Given the description of an element on the screen output the (x, y) to click on. 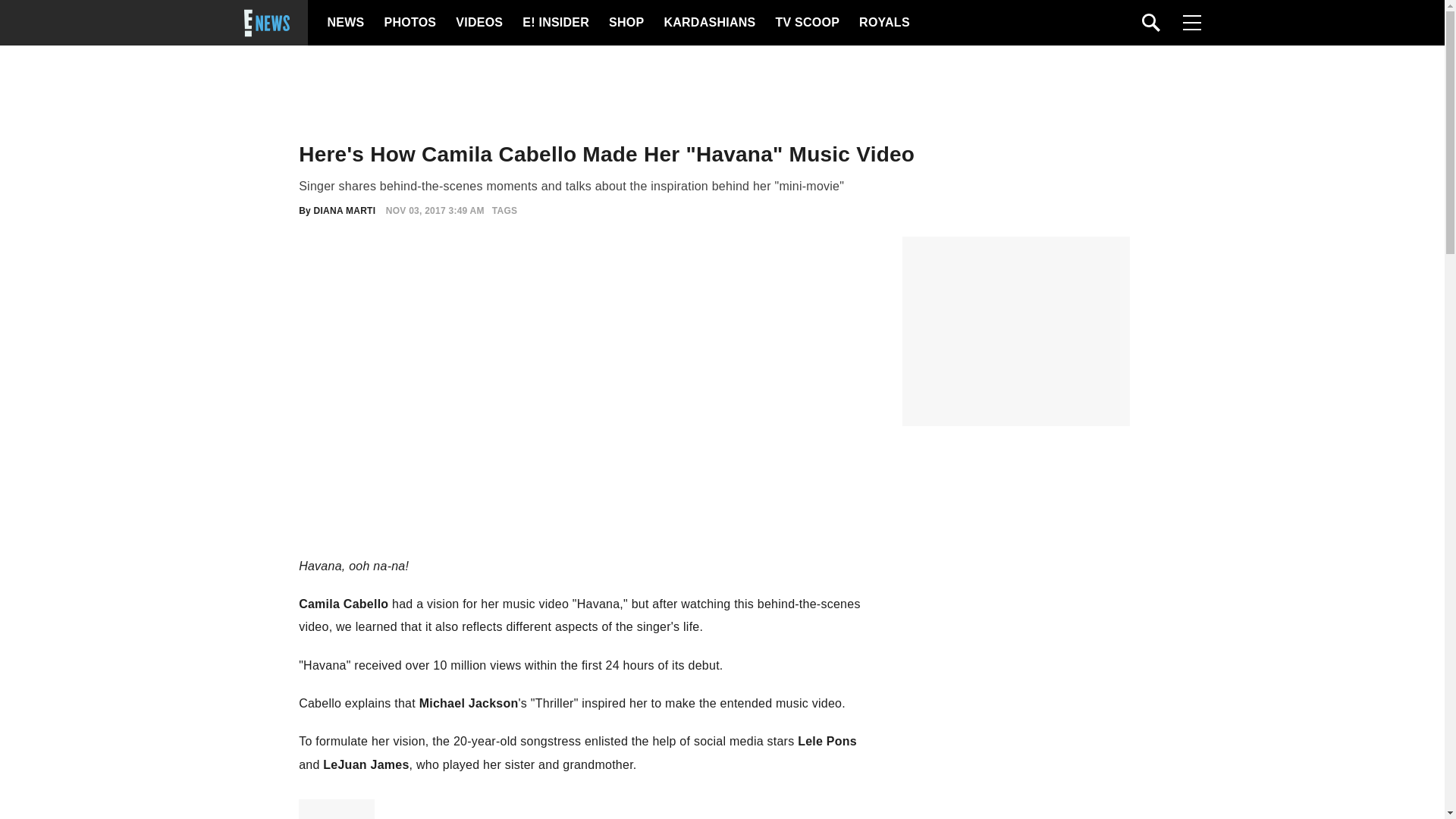
SHOP (625, 22)
PHOTOS (408, 22)
KARDASHIANS (708, 22)
ROYALS (883, 22)
E! INSIDER (555, 22)
DIANA MARTI (344, 210)
TV SCOOP (806, 22)
NEWS (345, 22)
VIDEOS (581, 809)
